Given the description of an element on the screen output the (x, y) to click on. 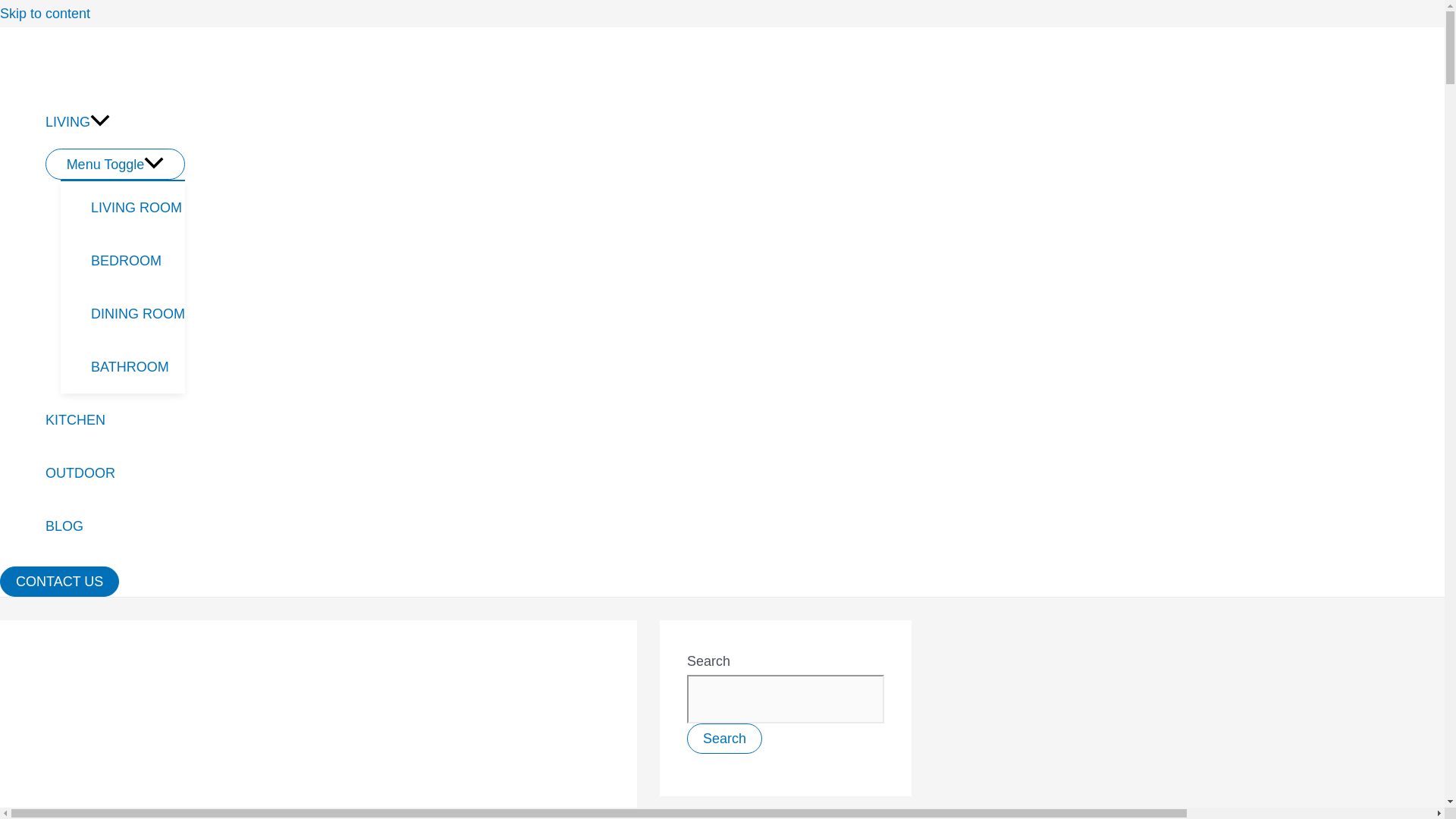
BATHROOM (137, 366)
Menu Toggle (114, 163)
CONTACT US (59, 581)
KITCHEN (114, 419)
Search (724, 738)
DINING ROOM (137, 313)
Skip to content (45, 13)
LIVING ROOM (137, 207)
Skip to content (45, 13)
LIVING (114, 121)
